Given the description of an element on the screen output the (x, y) to click on. 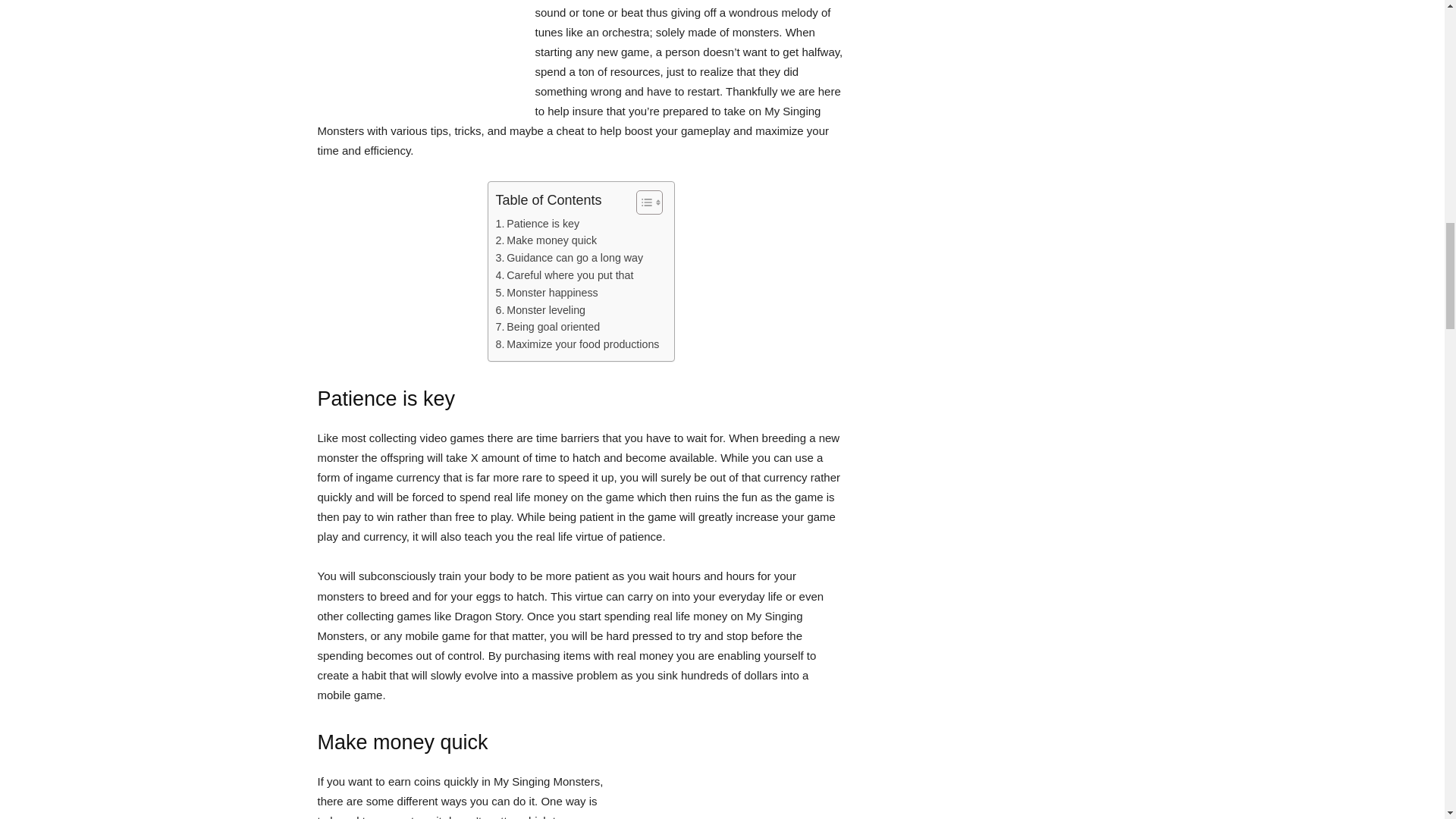
Patience is key (537, 223)
Careful where you put that (564, 275)
Patience is key (537, 223)
Guidance can go a long way (569, 257)
Monster happiness (547, 293)
Monster leveling (541, 310)
Make money quick (546, 240)
